Given the description of an element on the screen output the (x, y) to click on. 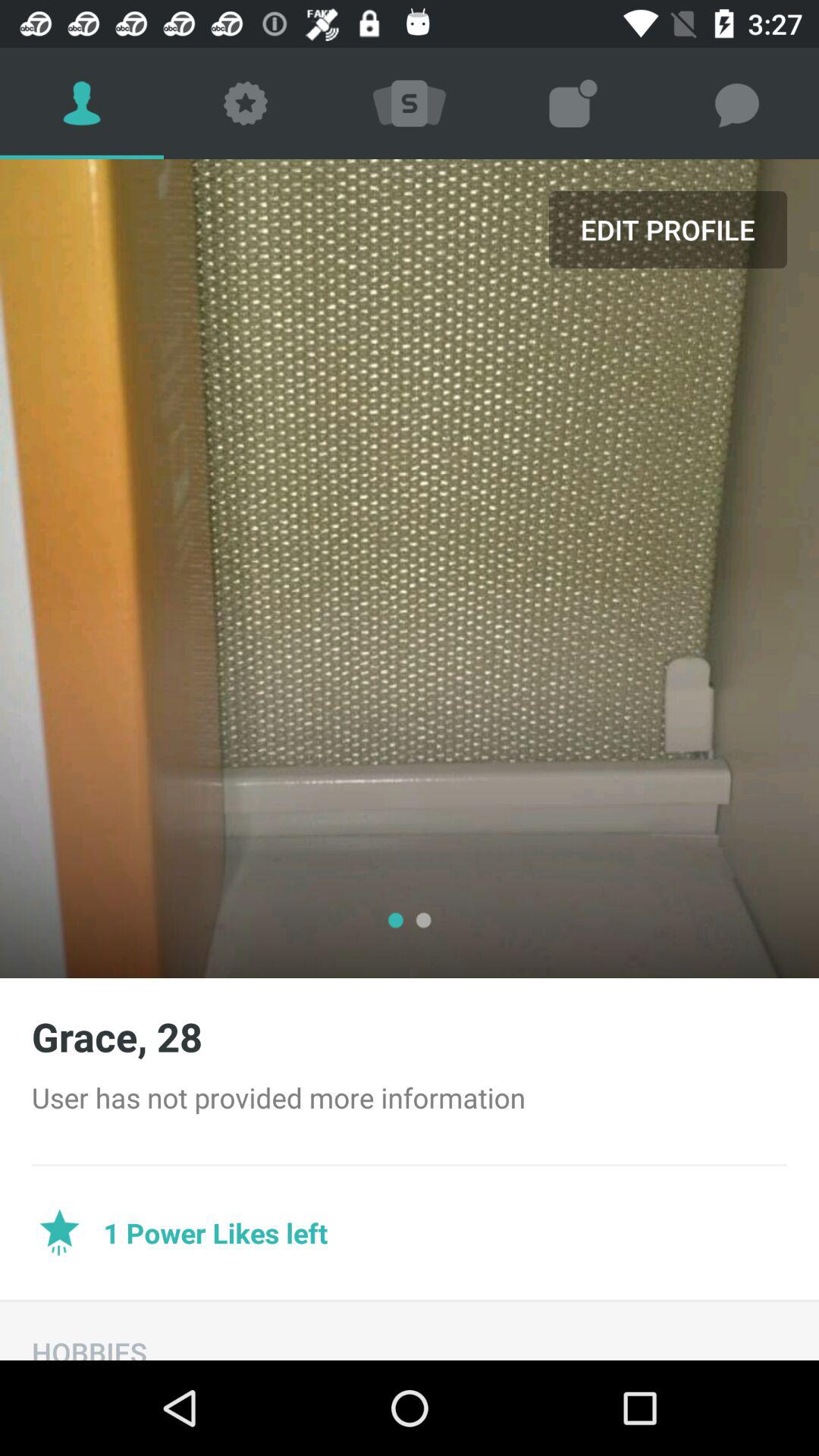
click user has not item (409, 1097)
